Given the description of an element on the screen output the (x, y) to click on. 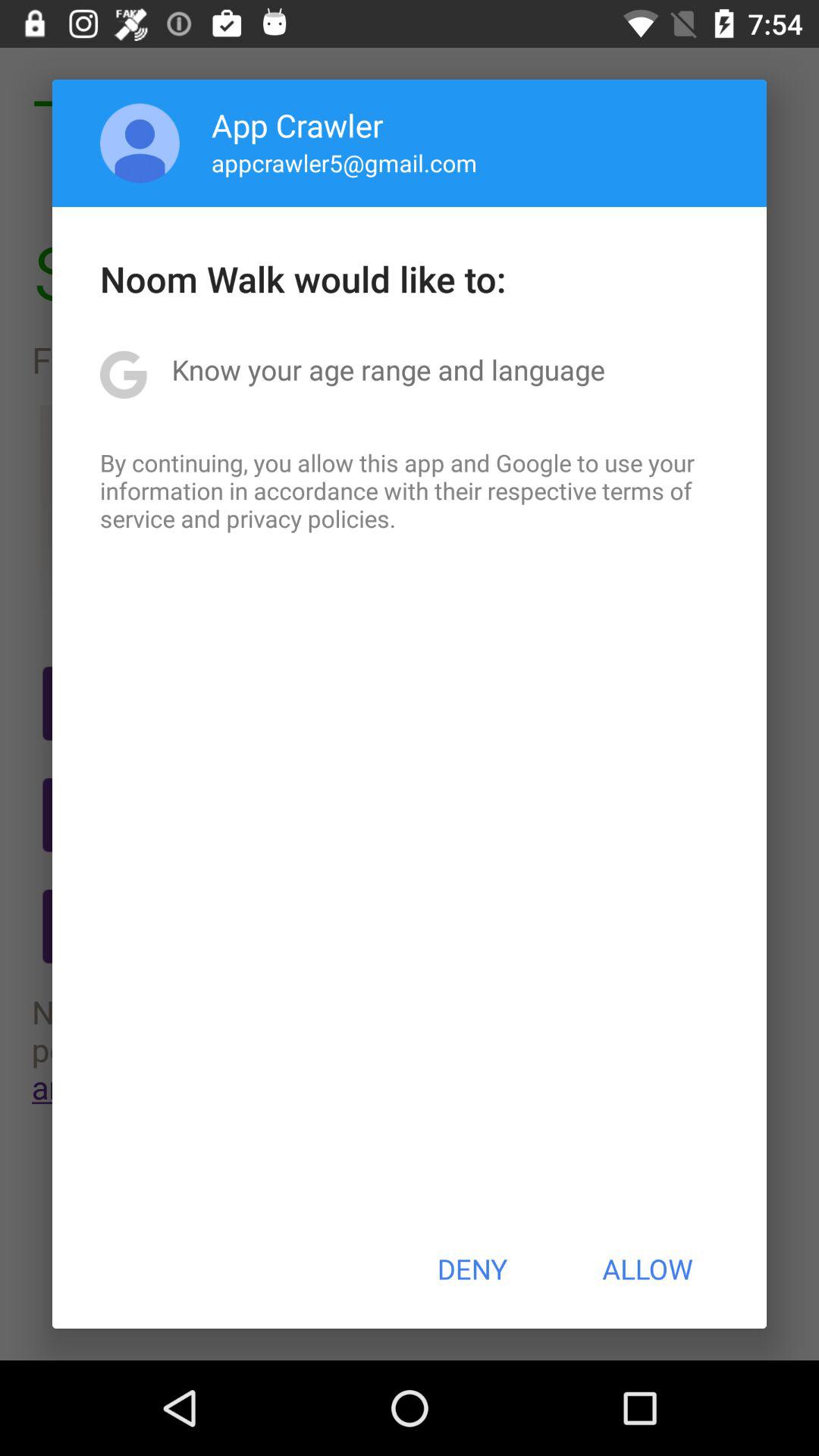
select icon above noom walk would icon (344, 162)
